Given the description of an element on the screen output the (x, y) to click on. 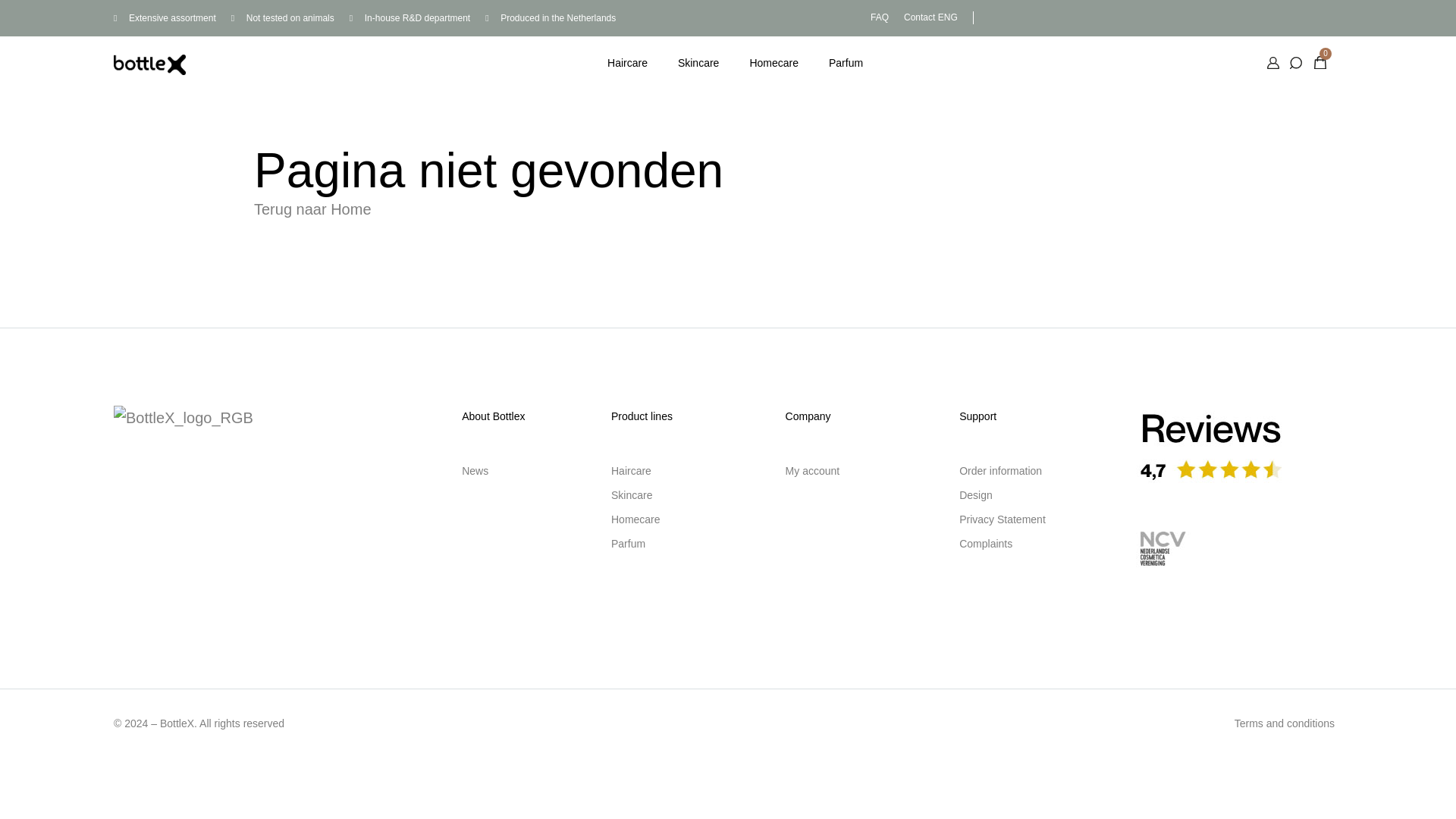
Haircare (627, 62)
Skincare (698, 62)
Parfum (845, 62)
Contact ENG (931, 16)
Homecare (773, 62)
